Given the description of an element on the screen output the (x, y) to click on. 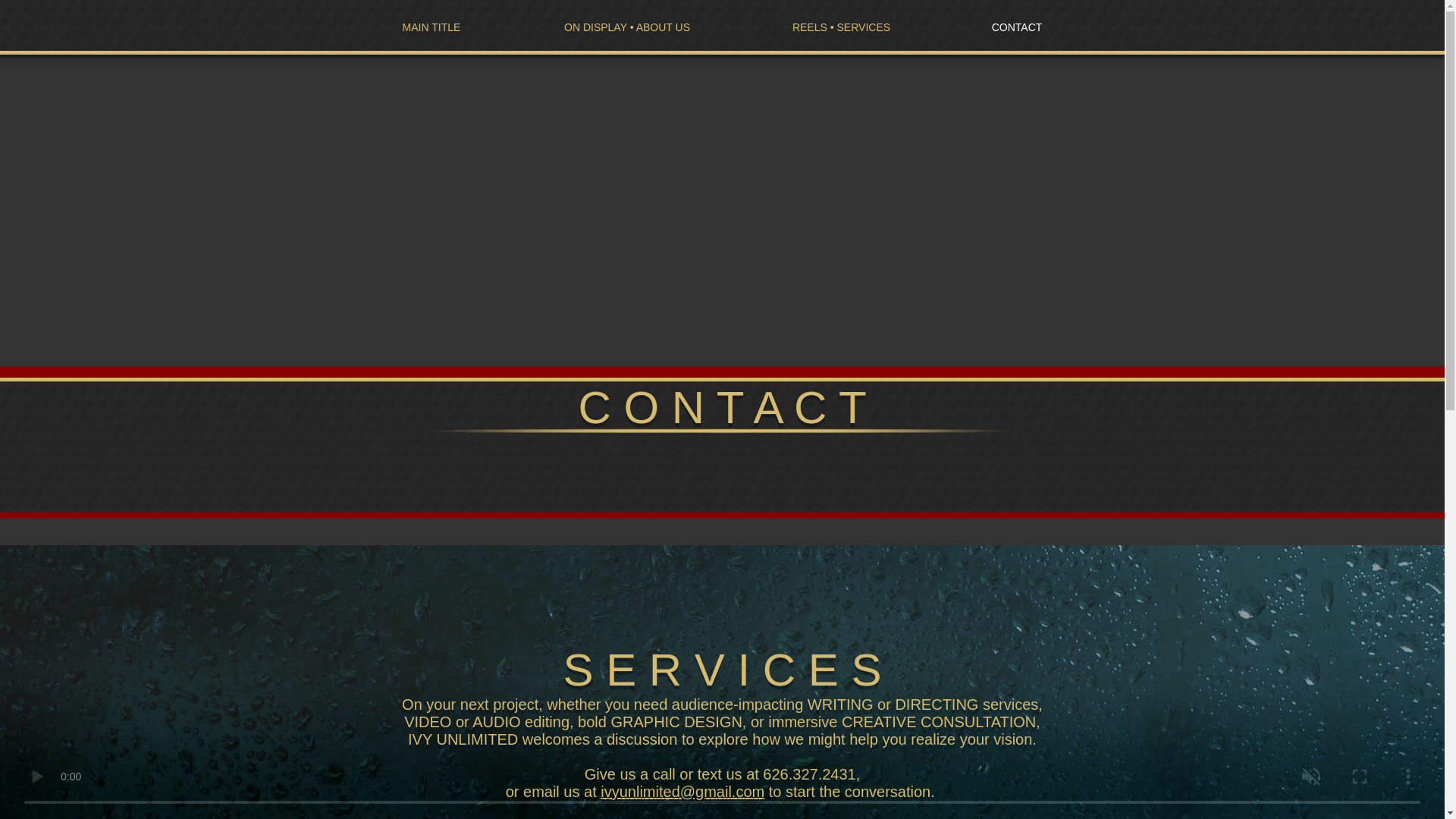
CONTACT (1016, 26)
MAIN TITLE (431, 26)
Yellow Separation Line with double fade at ends - 01.png (722, 430)
